Given the description of an element on the screen output the (x, y) to click on. 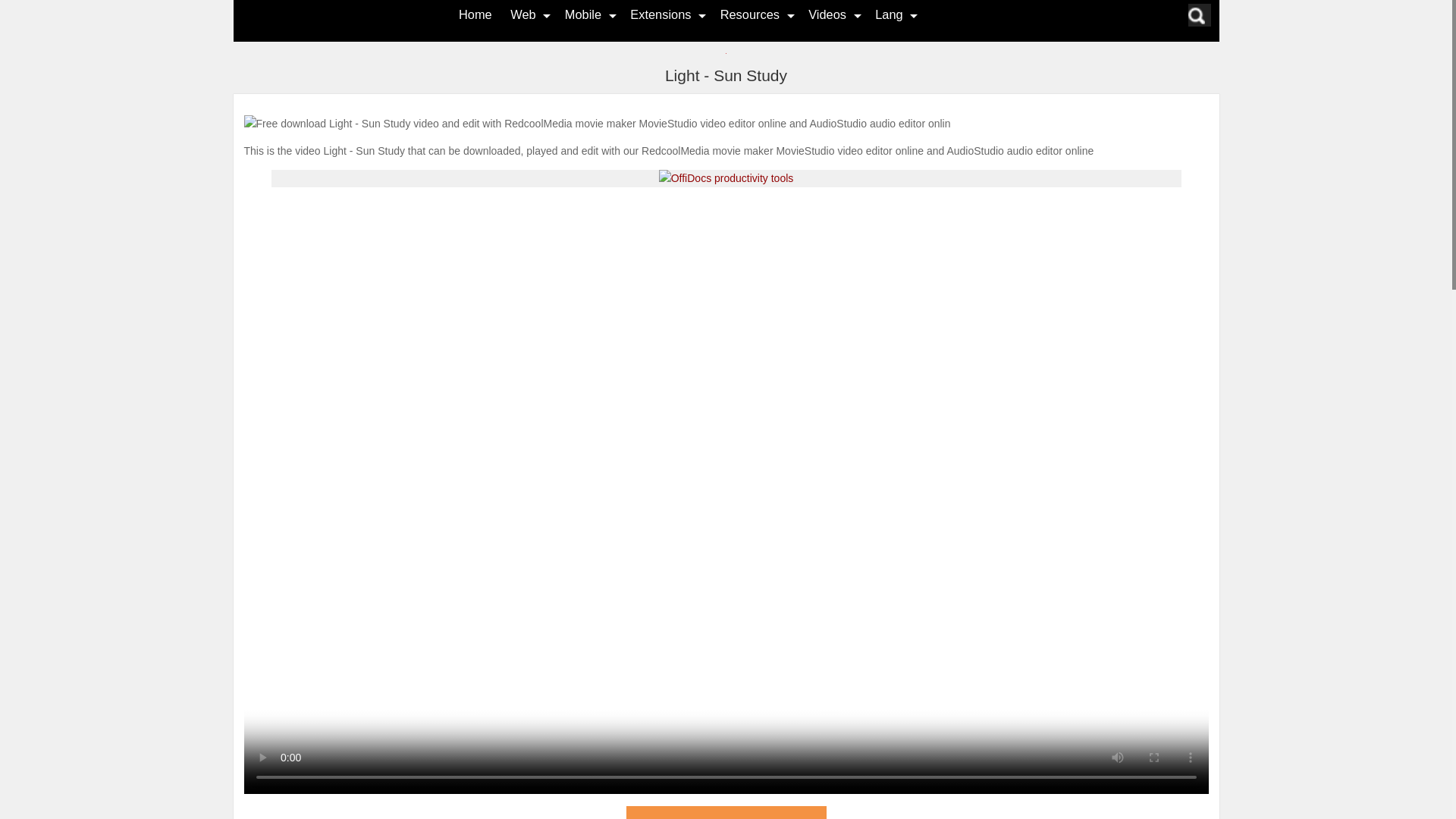
Home (475, 14)
Videos (826, 14)
Lang (888, 14)
Extensions (660, 14)
Web (523, 14)
Mobile (582, 14)
Mobile (582, 14)
Extensions (660, 14)
Resources (749, 14)
Web (523, 14)
